Given the description of an element on the screen output the (x, y) to click on. 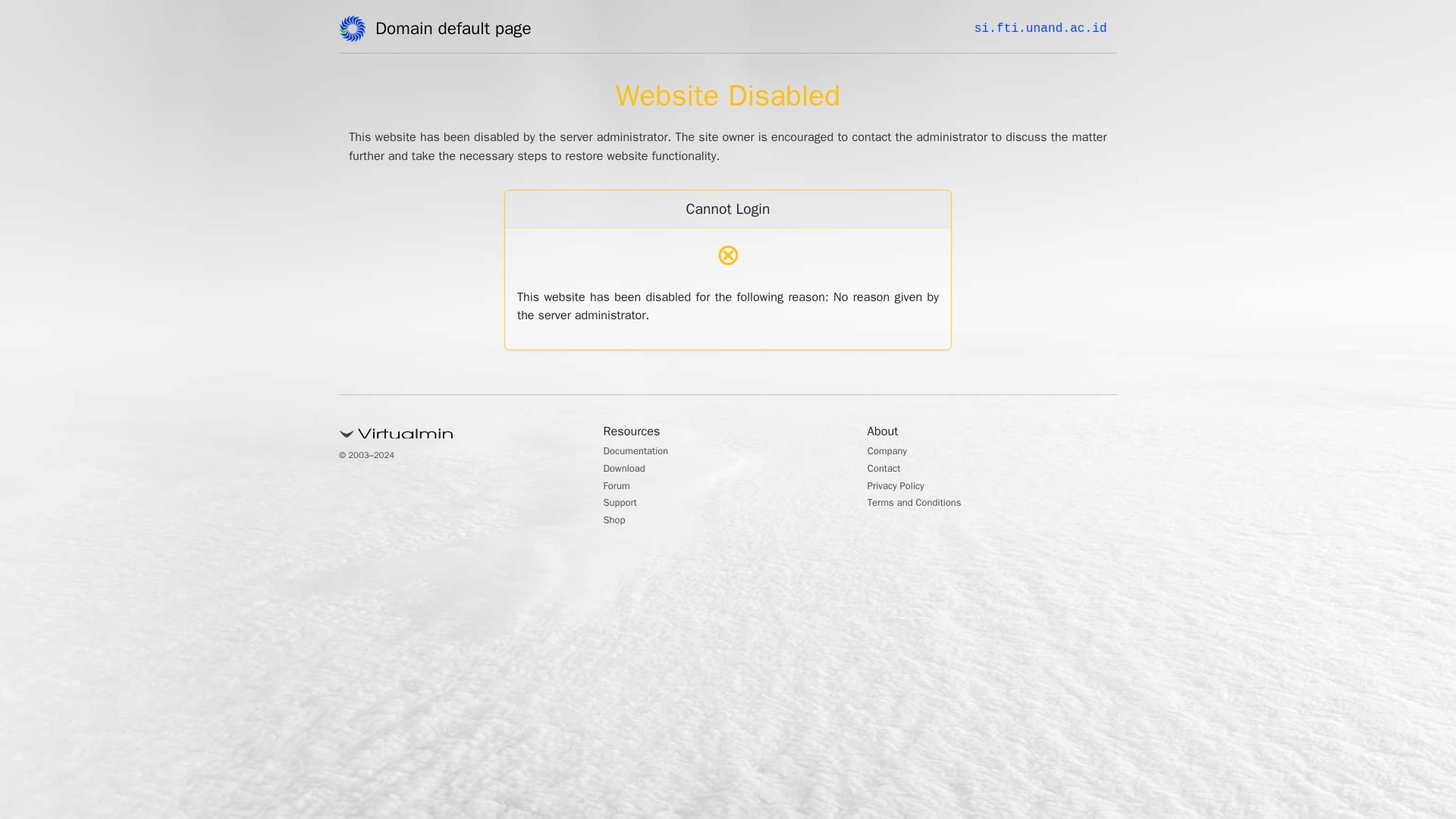
Contact (887, 469)
Company (891, 452)
Privacy Policy (902, 487)
Documentation (644, 452)
Download (629, 469)
Forum (620, 487)
Terms and Conditions (925, 503)
Shop (617, 521)
Domain default page (457, 31)
Support (624, 503)
